Given the description of an element on the screen output the (x, y) to click on. 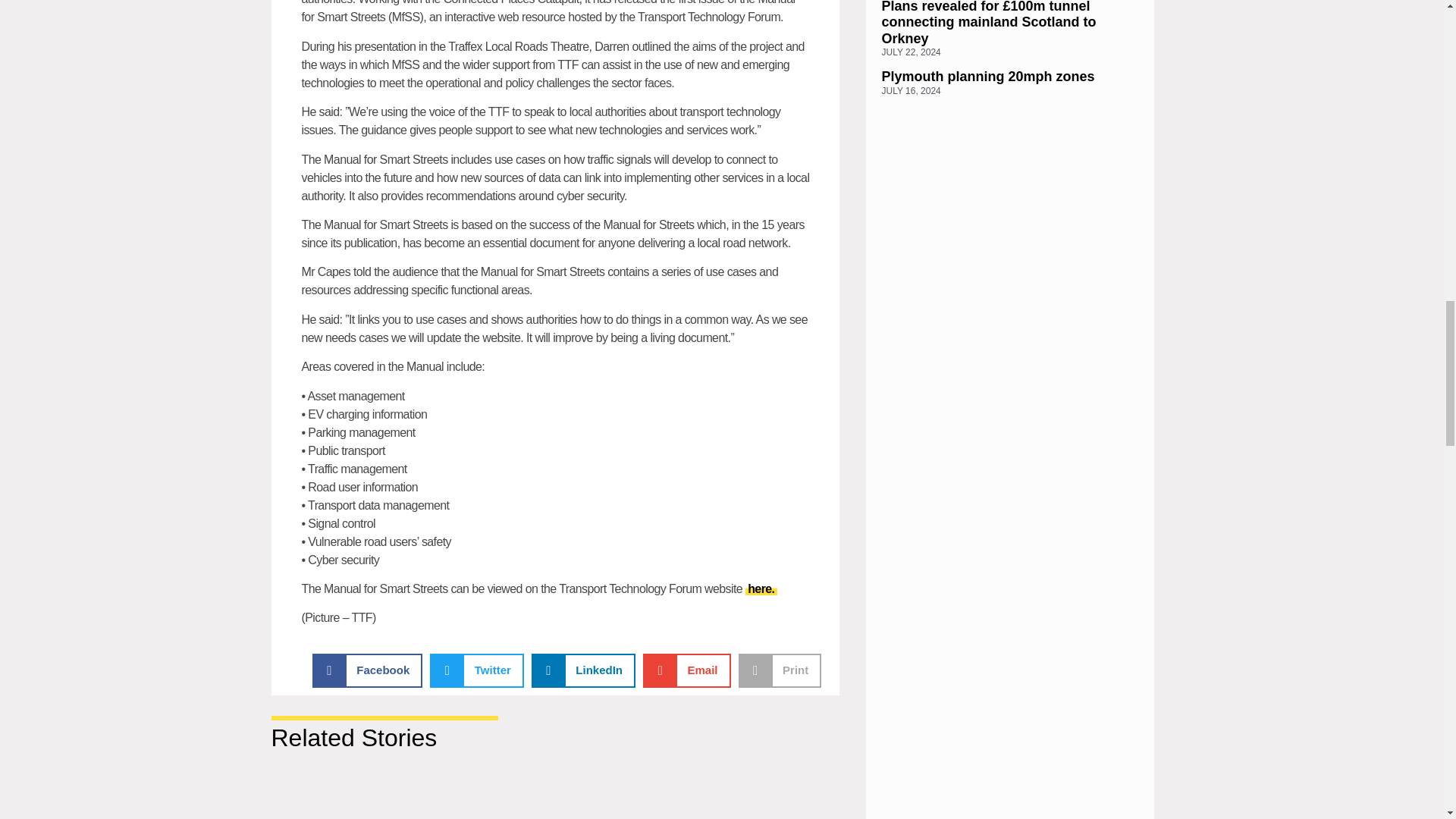
here. (761, 588)
